Given the description of an element on the screen output the (x, y) to click on. 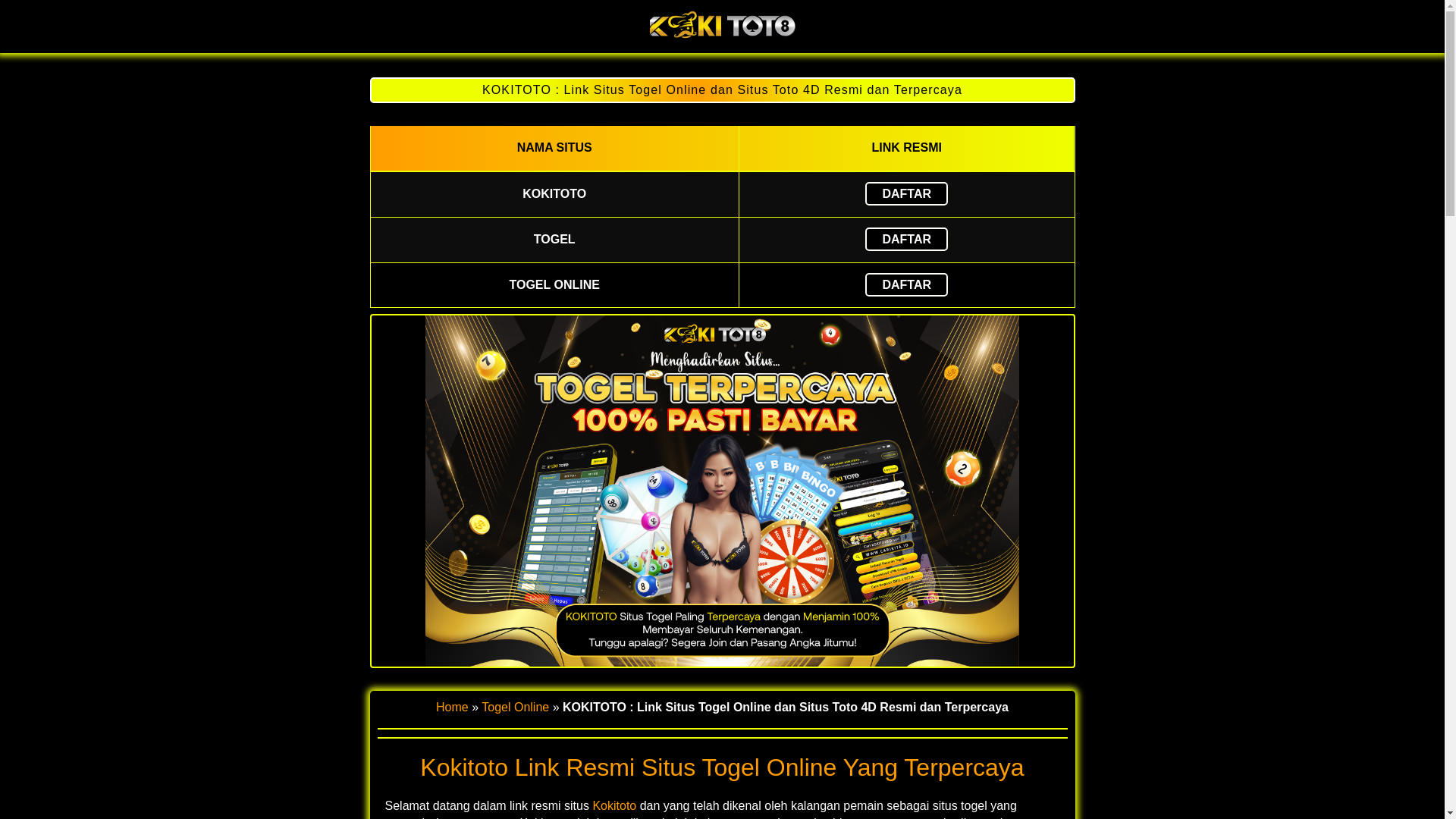
Togel Online (514, 707)
DAFTAR (905, 284)
Kokitoto (614, 805)
Togel Online (722, 39)
DAFTAR (905, 193)
DAFTAR (905, 238)
Home (451, 707)
